Given the description of an element on the screen output the (x, y) to click on. 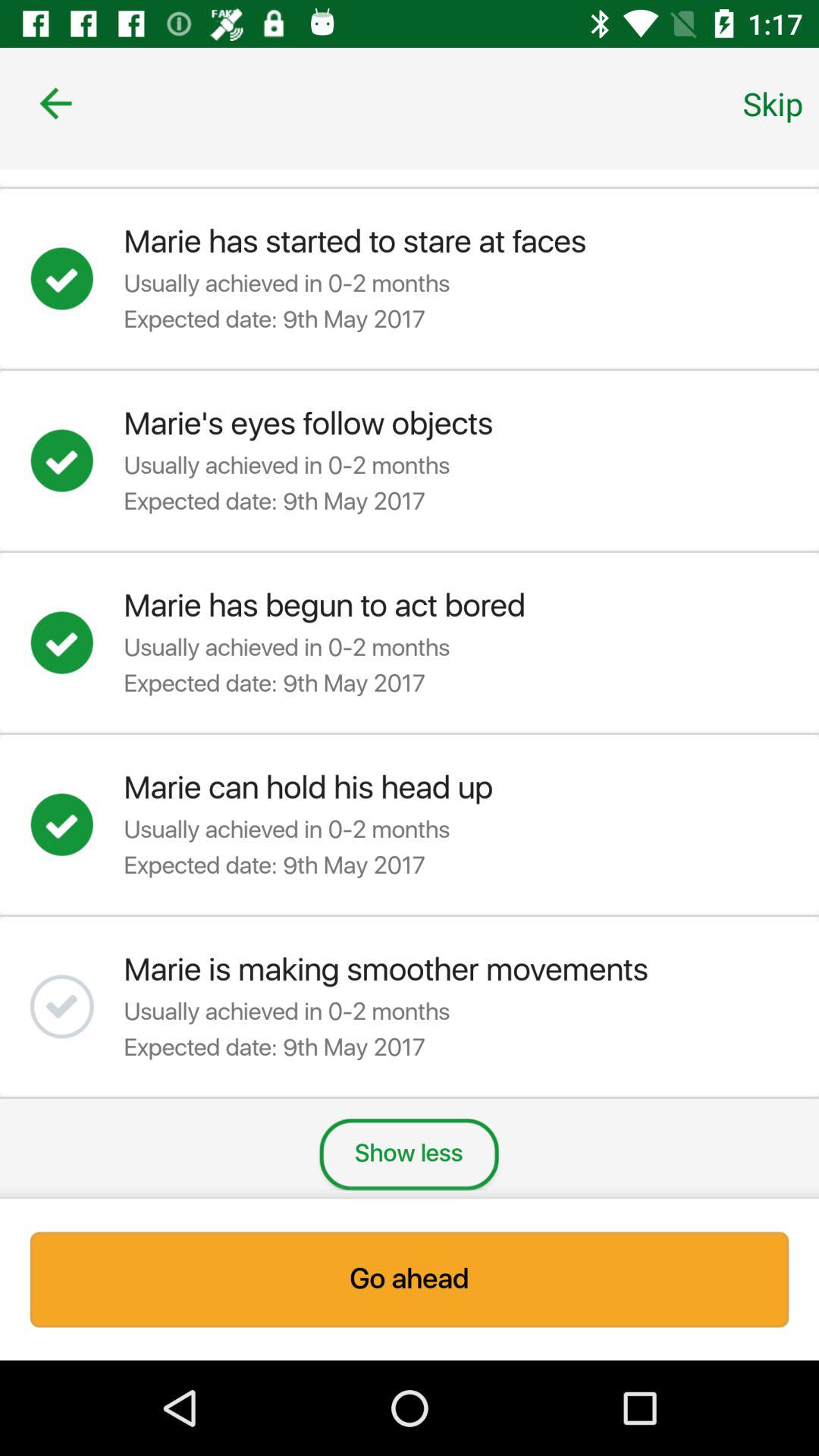
go to previous (55, 103)
